Given the description of an element on the screen output the (x, y) to click on. 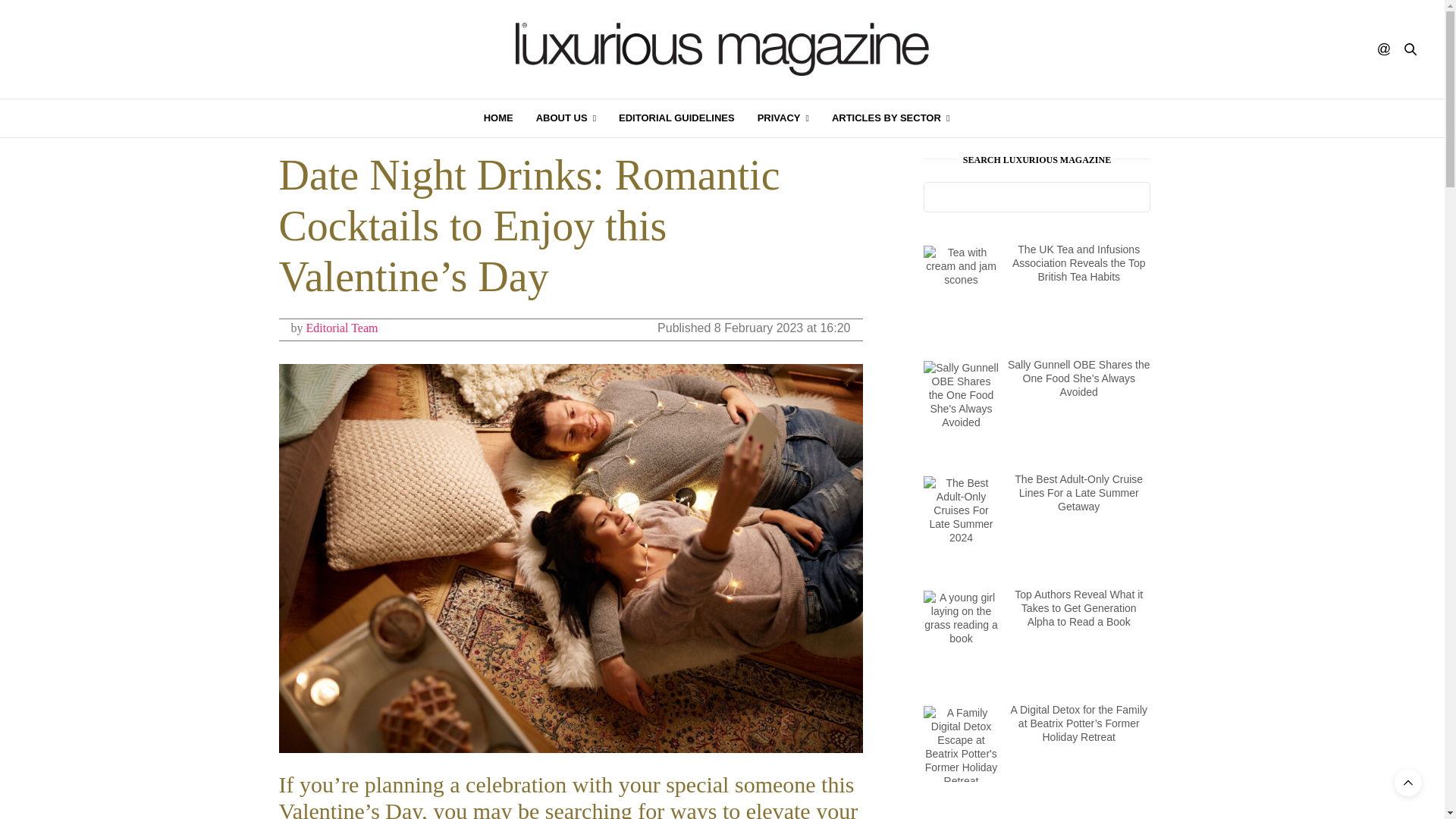
ABOUT US (565, 118)
Luxurious Magazine (722, 49)
Posts by Editorial Team (341, 327)
Luxurious Magazine articles by industry sector (890, 118)
